Given the description of an element on the screen output the (x, y) to click on. 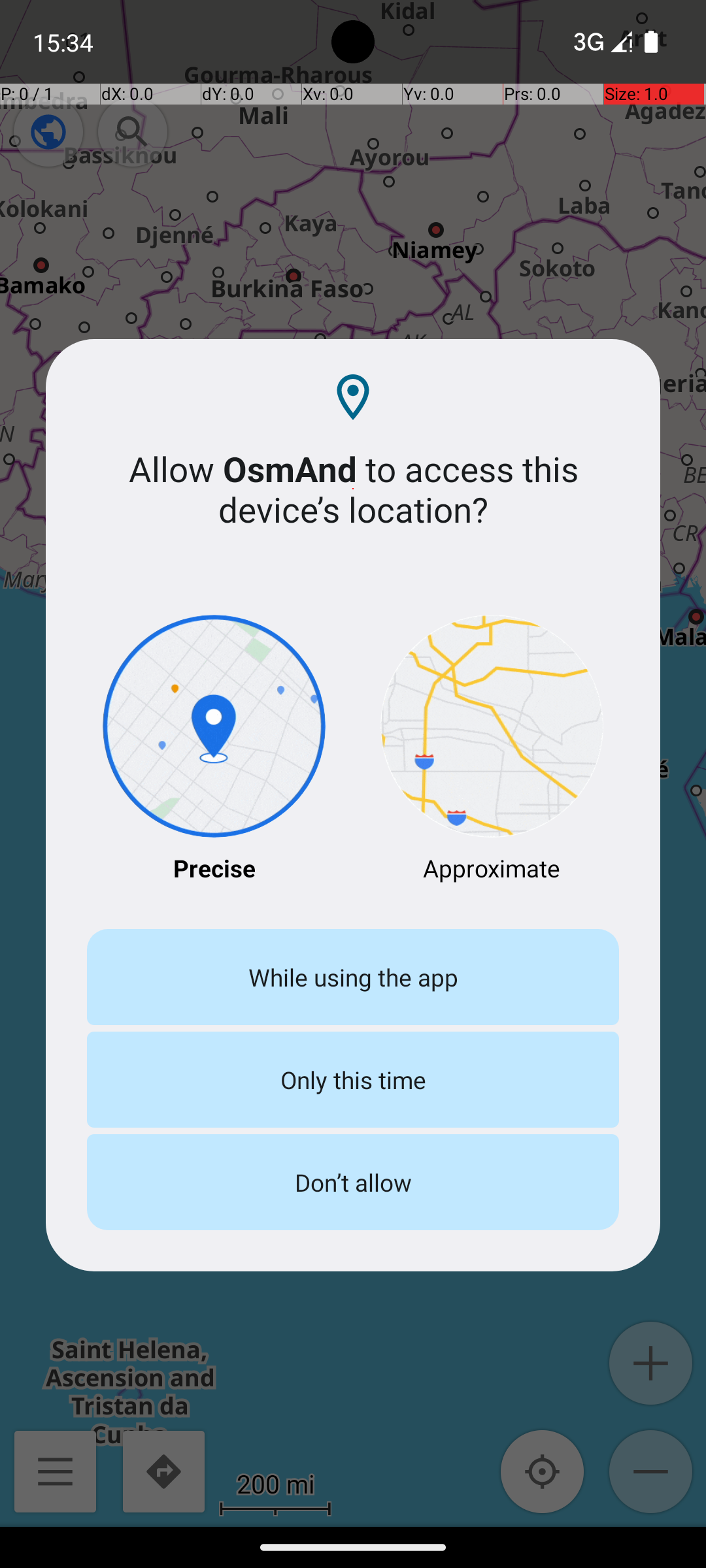
Allow OsmAnd to access this device’s location? Element type: android.widget.TextView (352, 488)
While using the app Element type: android.widget.Button (352, 977)
Only this time Element type: android.widget.Button (352, 1079)
Don’t allow Element type: android.widget.Button (352, 1182)
Precise Element type: android.widget.RadioButton (213, 749)
Approximate Element type: android.widget.RadioButton (491, 749)
